Given the description of an element on the screen output the (x, y) to click on. 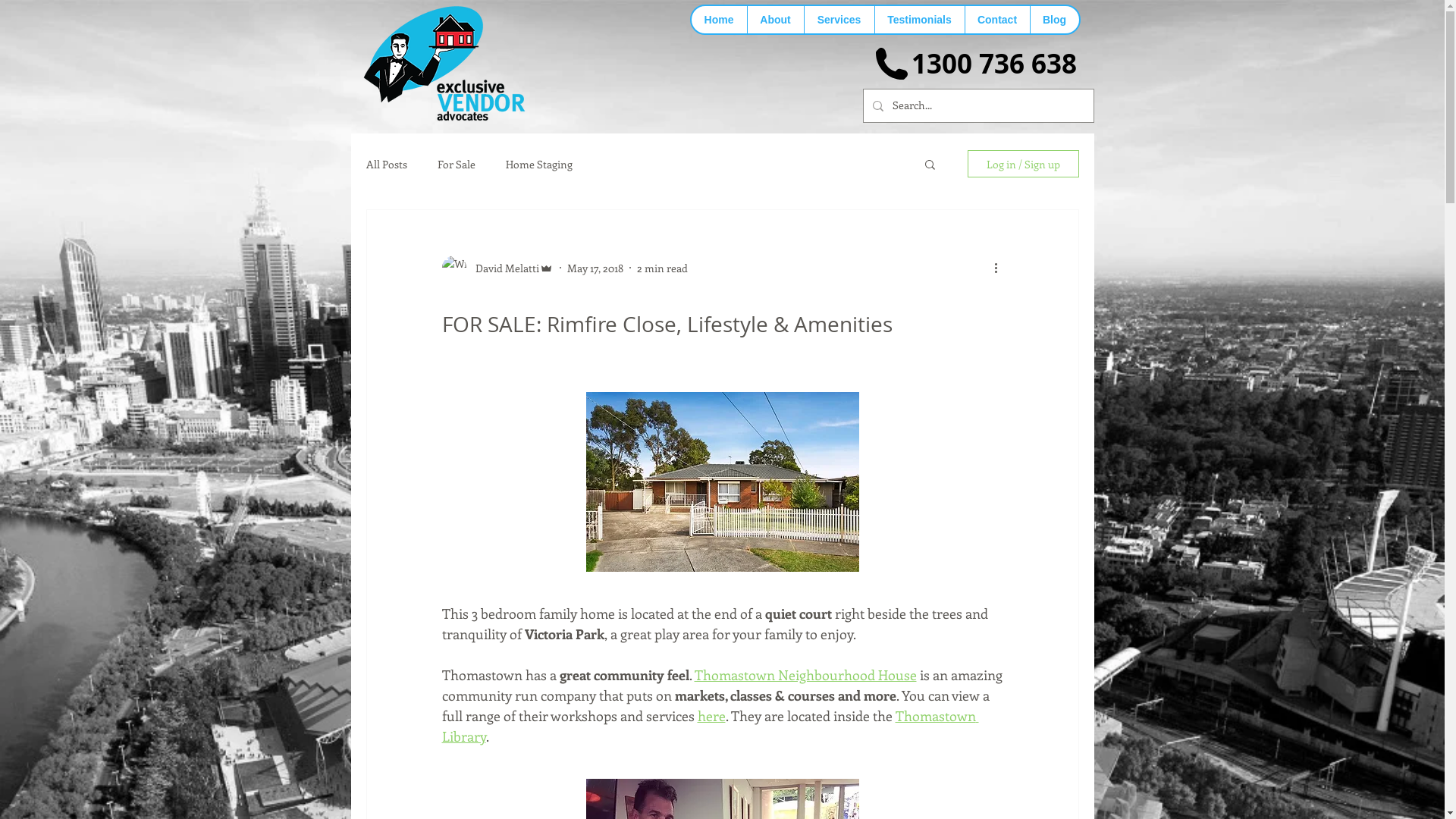
All Posts Element type: text (385, 163)
Home Element type: text (718, 19)
About Element type: text (774, 19)
Home Staging Element type: text (538, 163)
Services Element type: text (838, 19)
Contact Element type: text (996, 19)
Testimonials Element type: text (918, 19)
here Element type: text (711, 715)
Log in / Sign up Element type: text (1023, 163)
Thomastown Neighbourhood House Element type: text (805, 674)
Thomastown Library Element type: text (709, 725)
Blog Element type: text (1054, 19)
For Sale Element type: text (455, 163)
1300 736 638 Element type: text (993, 63)
